Given the description of an element on the screen output the (x, y) to click on. 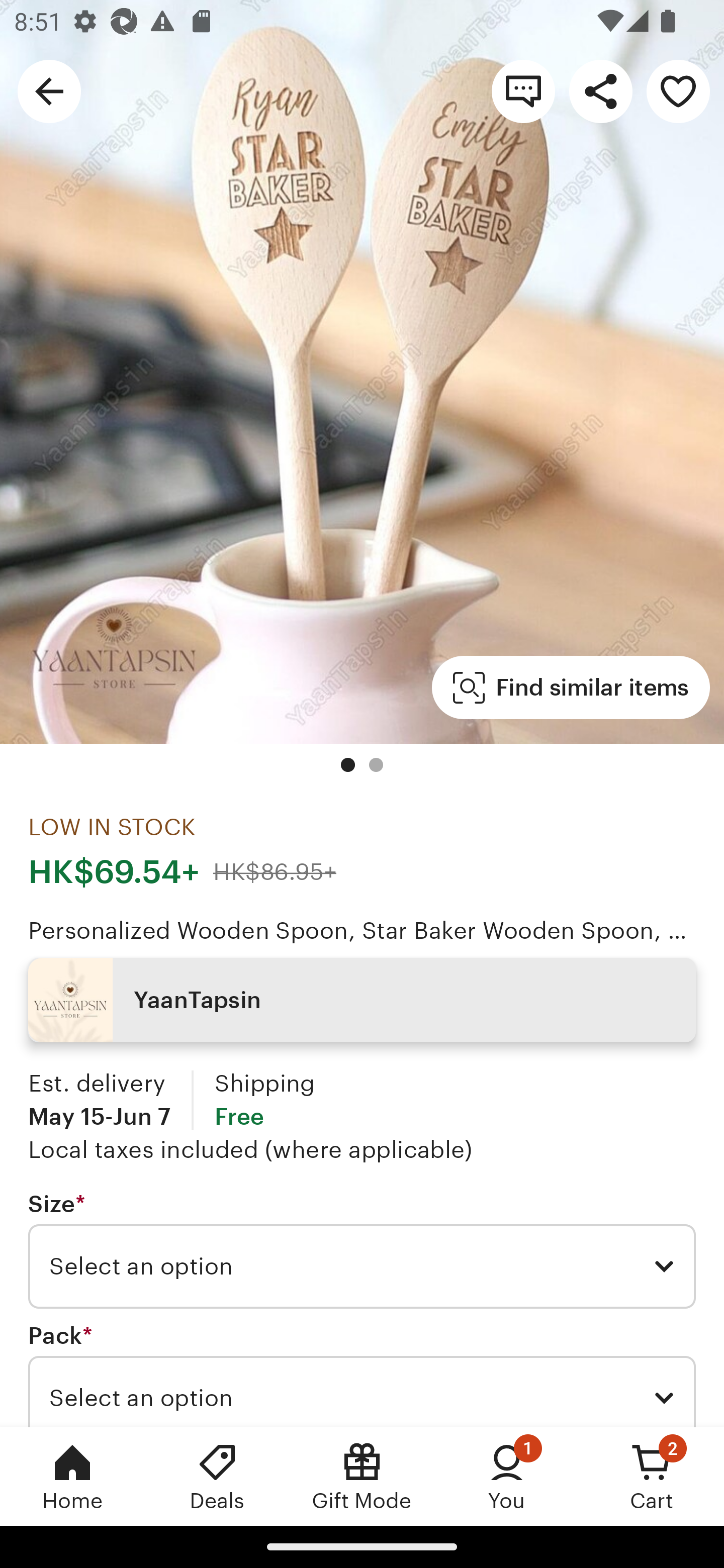
Navigate up (49, 90)
Contact shop (523, 90)
Share (600, 90)
Find similar items (571, 687)
YaanTapsin (361, 1000)
Size * Required Select an option (361, 1250)
Select an option (361, 1266)
Pack * Required Select an option (361, 1374)
Select an option (361, 1391)
Deals (216, 1475)
Gift Mode (361, 1475)
You, 1 new notification You (506, 1475)
Cart, 2 new notifications Cart (651, 1475)
